Given the description of an element on the screen output the (x, y) to click on. 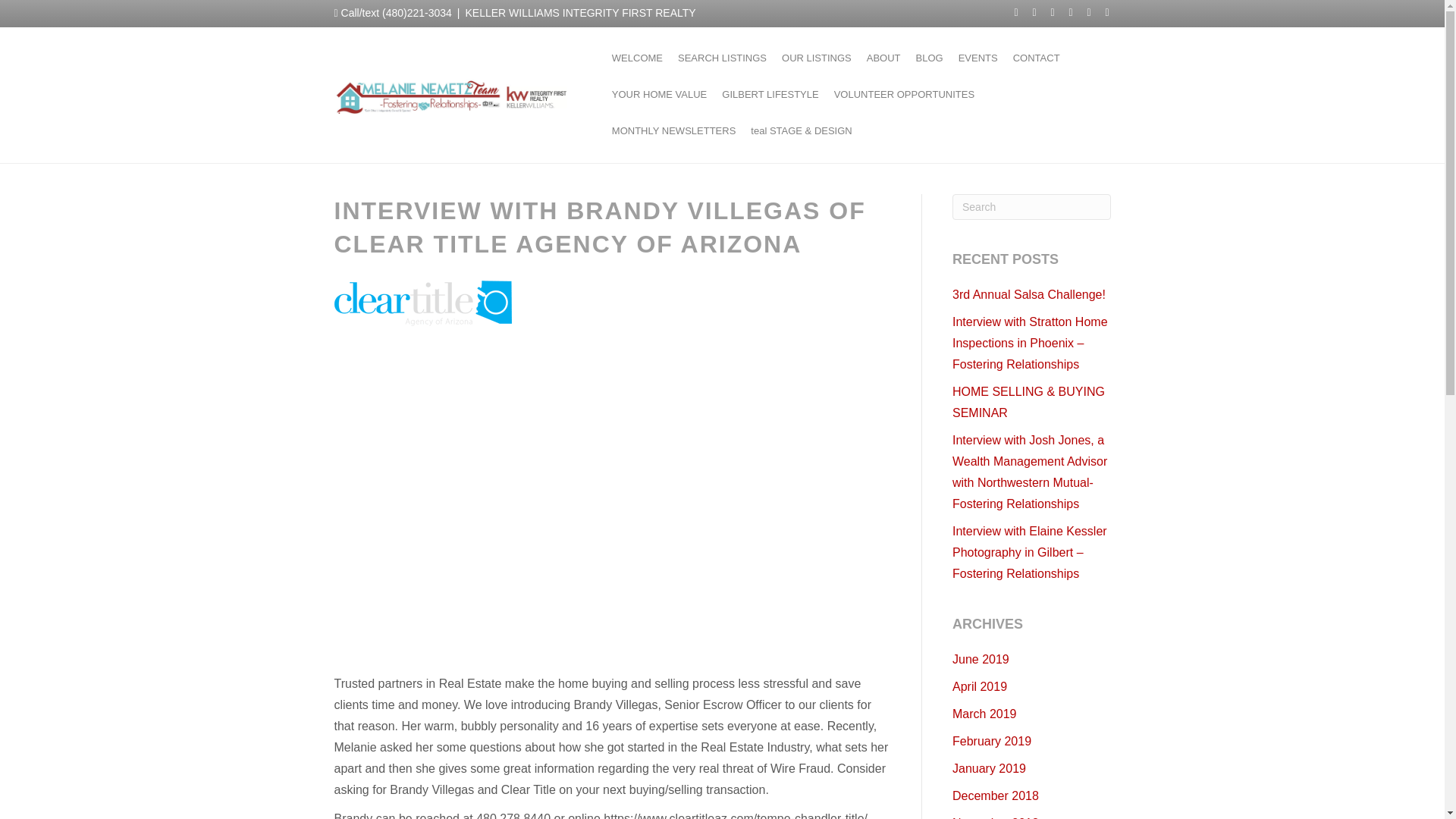
Facebook (1007, 11)
WELCOME (636, 58)
Email (1099, 11)
Youtube (1062, 11)
CONTACT (1036, 58)
OUR LISTINGS (816, 58)
MONTHLY NEWSLETTERS (673, 131)
ABOUT (883, 58)
GILBERT LIFESTYLE (769, 94)
Linkedin (1044, 11)
